Given the description of an element on the screen output the (x, y) to click on. 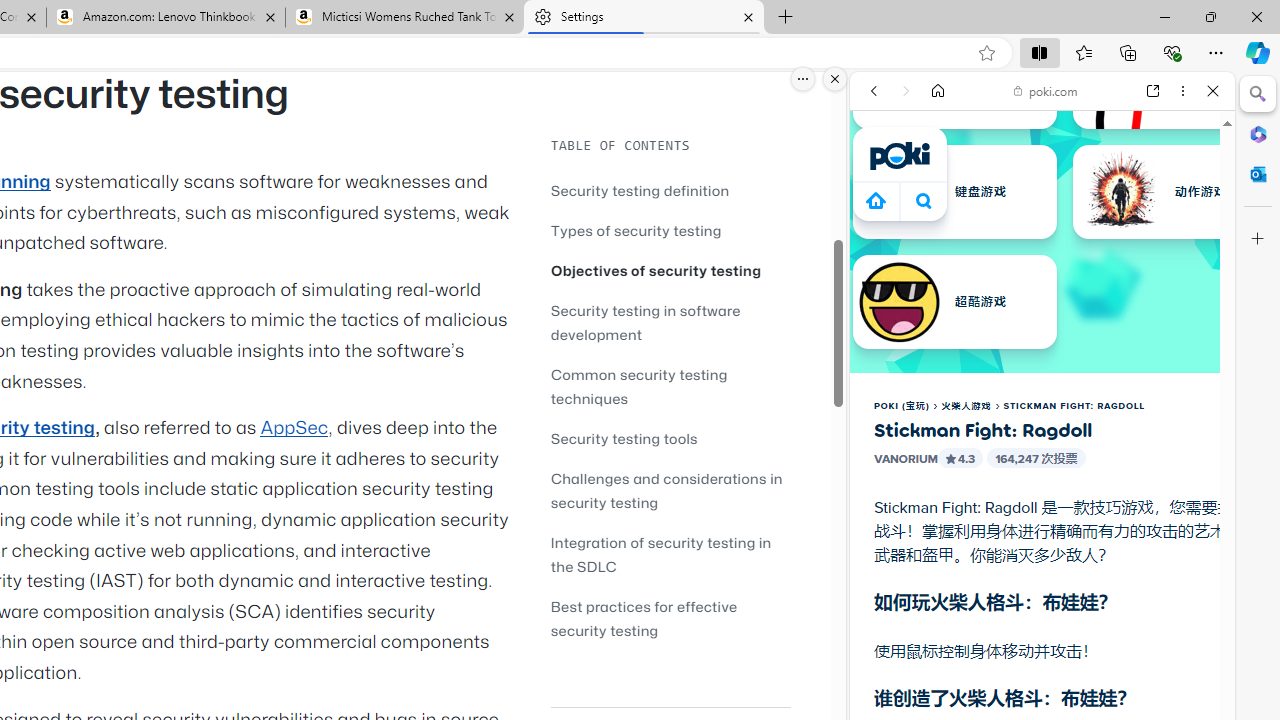
Poki (1034, 288)
Security testing tools (670, 438)
Best practices for effective security testing (644, 618)
Integration of security testing in the SDLC (660, 554)
Class: fcfViJboVjIxhb1F278U (950, 458)
